Given the description of an element on the screen output the (x, y) to click on. 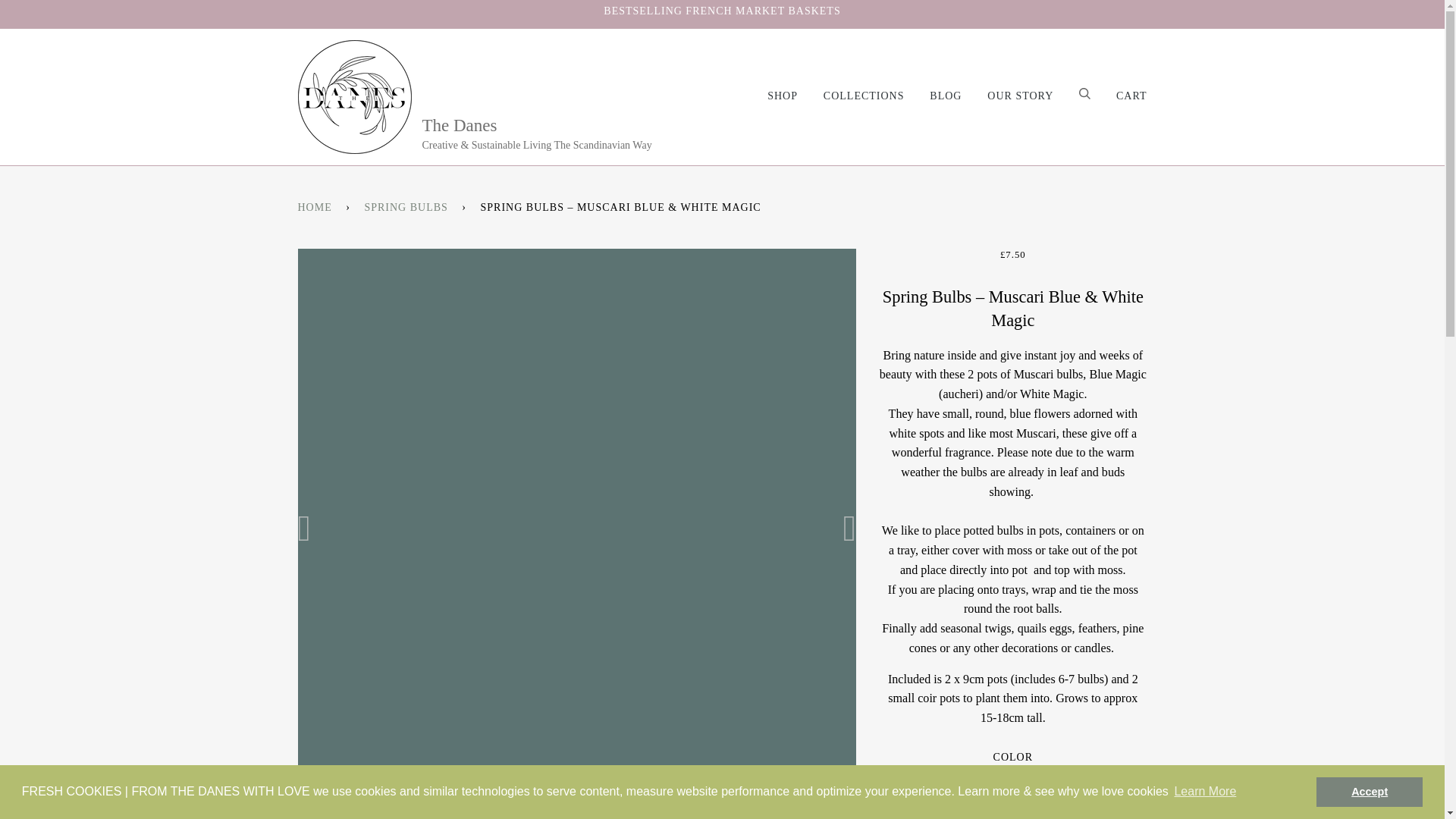
Back to the frontpage (316, 207)
BESTSELLING FRENCH MARKET BASKETS (722, 10)
1 (1012, 817)
COLLECTIONS (852, 95)
Accept (1369, 791)
Learn More (1205, 791)
